Given the description of an element on the screen output the (x, y) to click on. 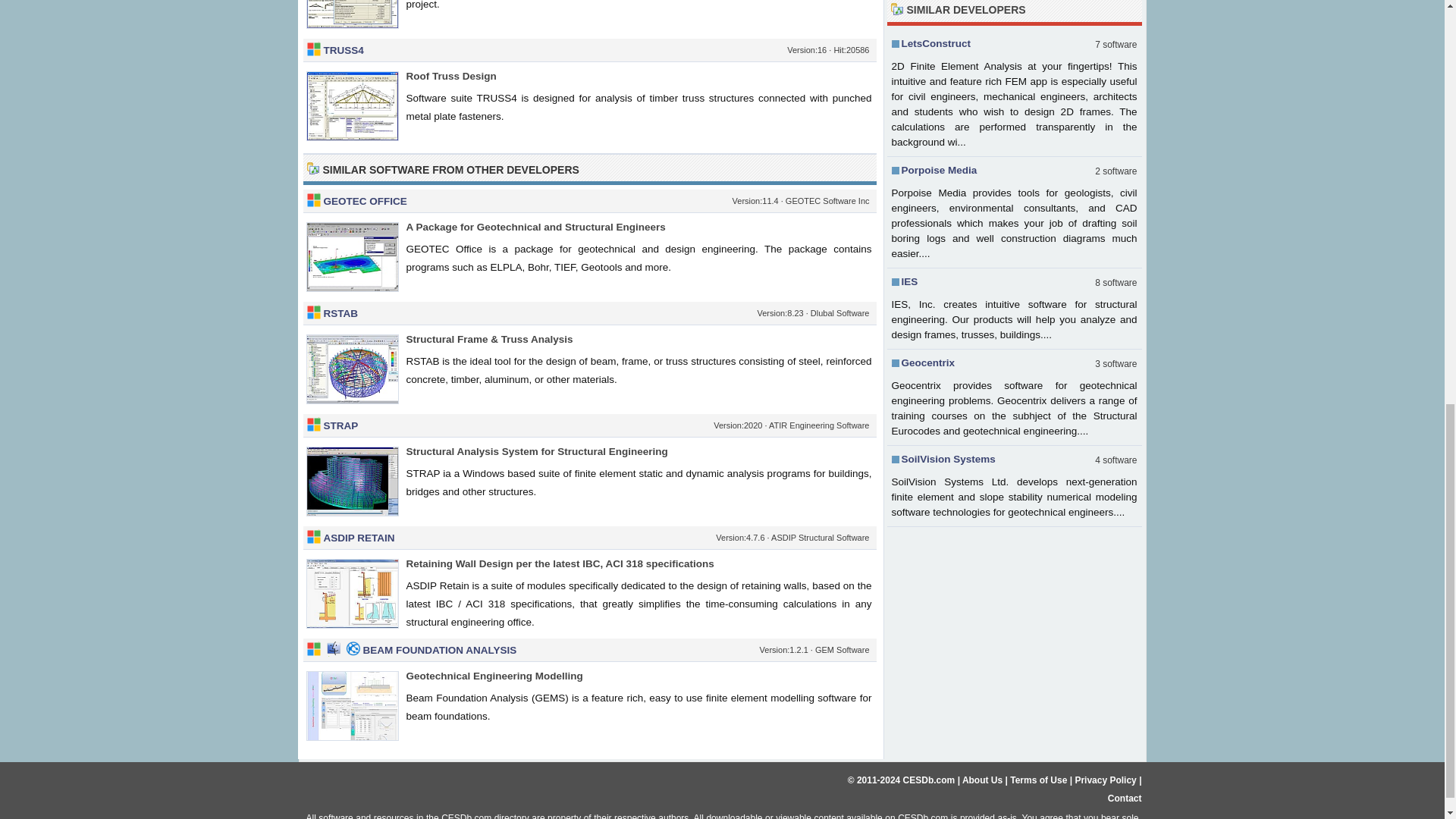
TRUSS4 (342, 50)
GEOTEC OFFICE (364, 201)
RSTAB (340, 313)
Structural Analysis System for Structural Engineering (537, 451)
STRAP (340, 425)
ASDIP RETAIN (358, 537)
Roof Truss Design (451, 75)
A Package for Geotechnical and Structural Engineers (535, 226)
BEAM FOUNDATION ANALYSIS (439, 650)
